Given the description of an element on the screen output the (x, y) to click on. 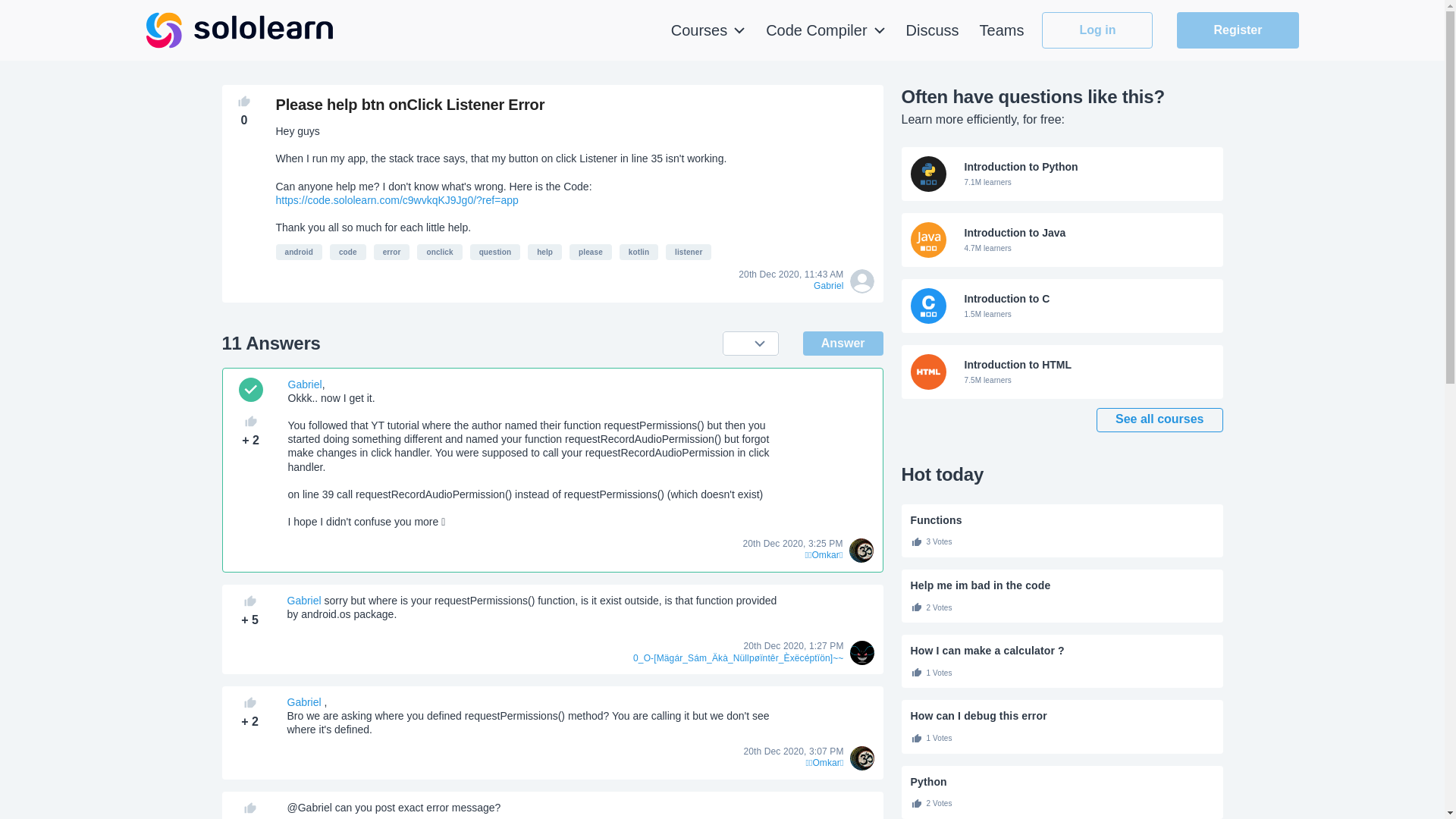
Functions (1061, 520)
Gabriel (304, 383)
Gabriel (303, 702)
code (348, 252)
Introduction to Python (1062, 173)
Code Compiler (825, 29)
Introduction to Java (1062, 239)
Introduction to HTML (1062, 371)
please (590, 252)
error (392, 252)
